Given the description of an element on the screen output the (x, y) to click on. 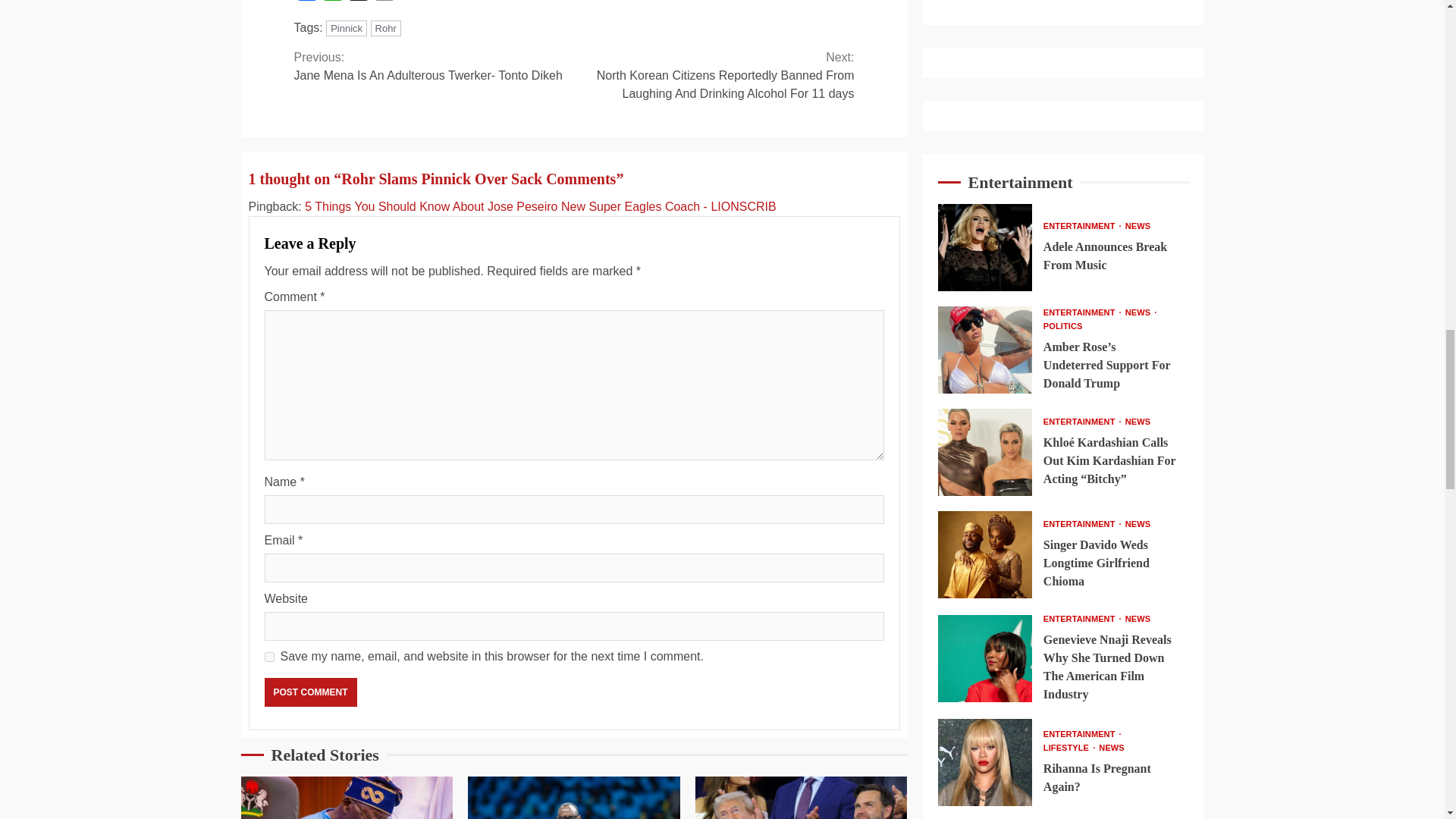
Copy Link (384, 3)
X (358, 3)
Facebook (307, 3)
Post Comment (309, 692)
yes (268, 656)
WhatsApp (333, 3)
